Given the description of an element on the screen output the (x, y) to click on. 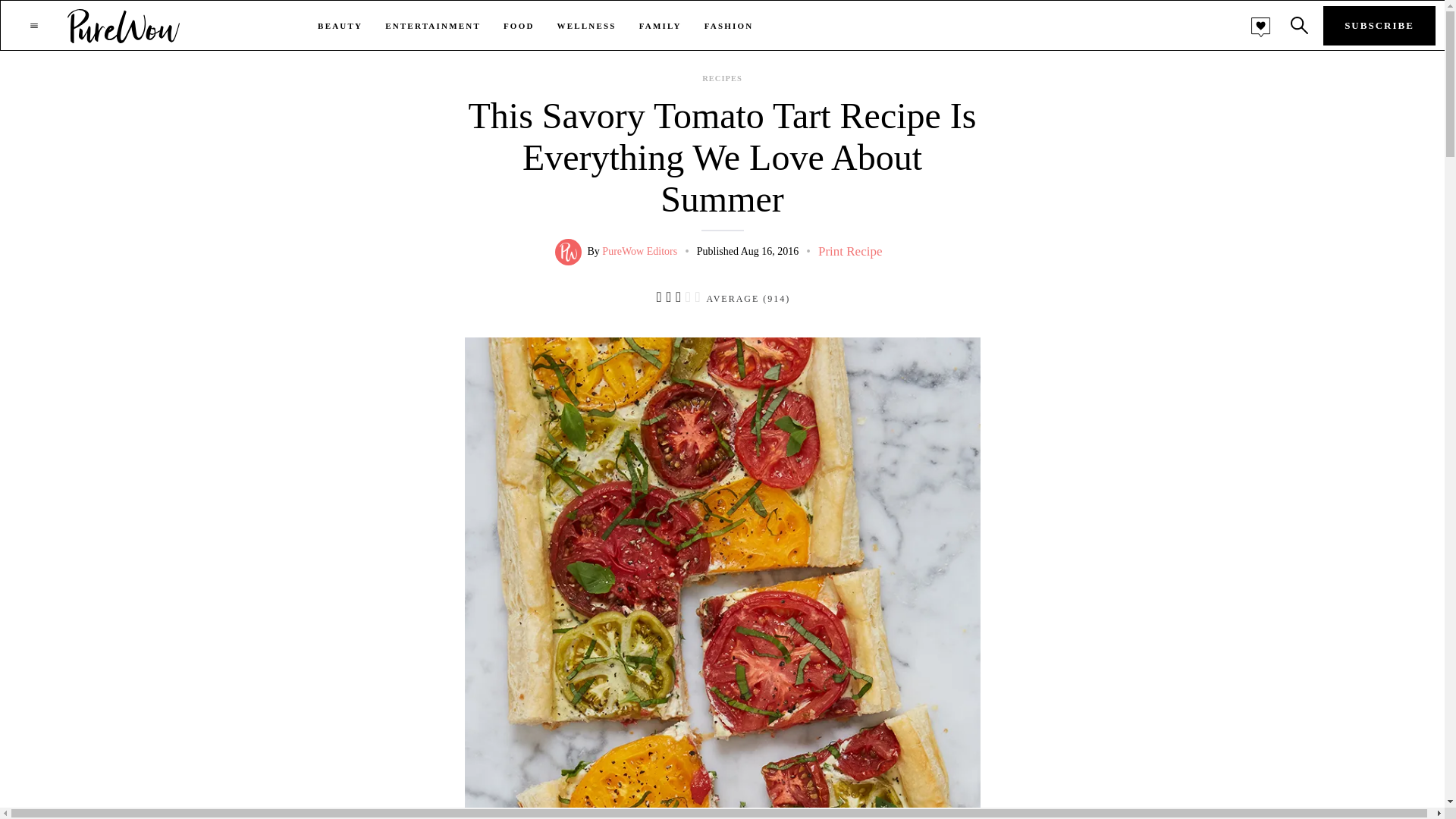
FAMILY (660, 25)
FOOD (518, 25)
PureWow Editors (639, 251)
ENTERTAINMENT (432, 25)
RECIPES (721, 78)
BEAUTY (339, 25)
PureWow (123, 25)
WELLNESS (586, 25)
FASHION (729, 25)
SUBSCRIBE (1379, 25)
